Given the description of an element on the screen output the (x, y) to click on. 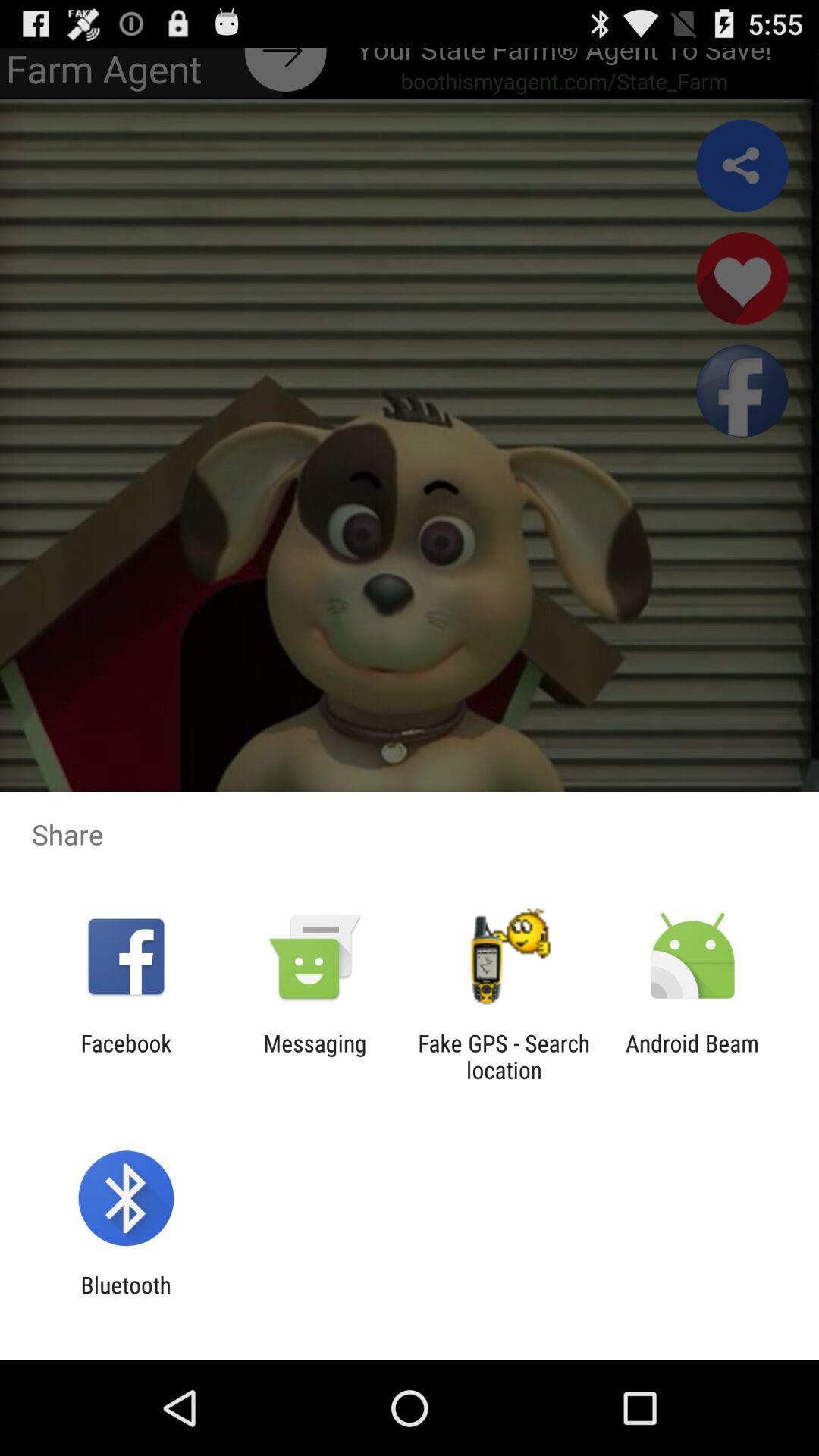
press the item next to messaging icon (503, 1056)
